Given the description of an element on the screen output the (x, y) to click on. 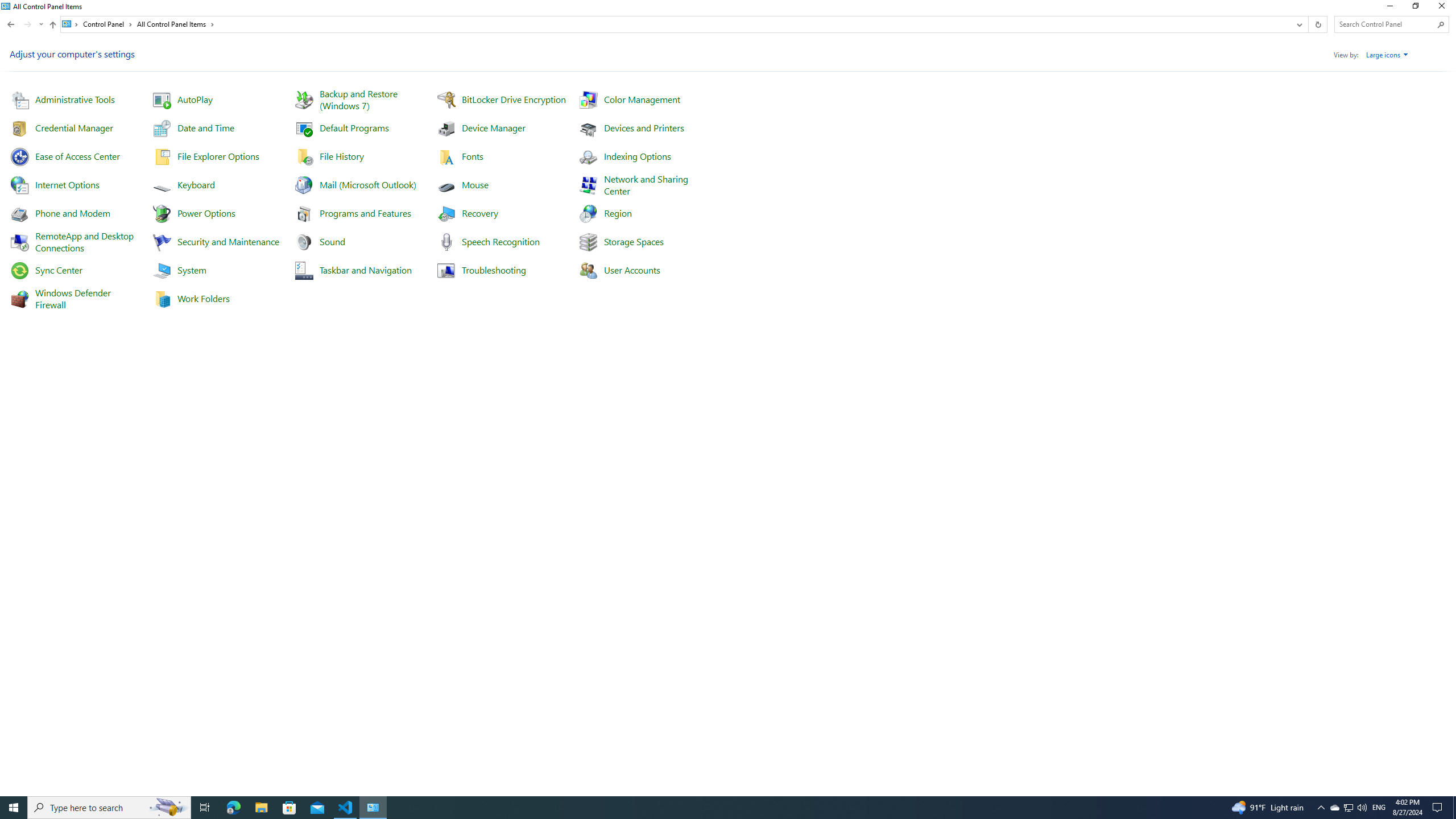
Network and Sharing Center (646, 184)
Backup and Restore (Windows 7) (359, 99)
Power Options (205, 212)
System (6, 6)
Search Box (1386, 23)
All locations (70, 23)
RemoteApp and Desktop Connections (84, 241)
Region (617, 212)
Fonts (472, 155)
Minimize (1388, 8)
